Given the description of an element on the screen output the (x, y) to click on. 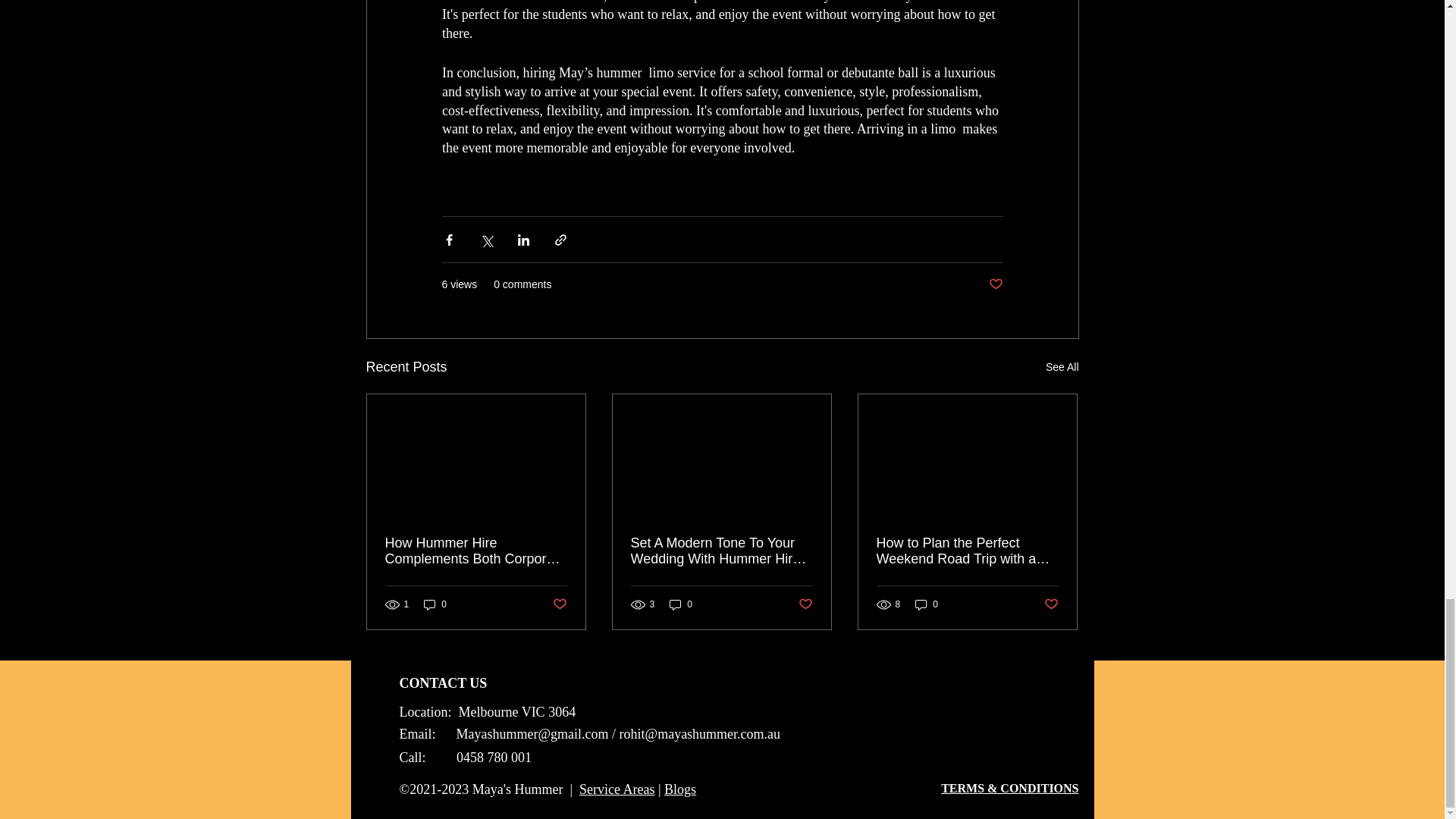
0 (435, 604)
Set A Modern Tone To Your Wedding With Hummer Hire Melbourne (721, 551)
Post not marked as liked (995, 284)
Post not marked as liked (558, 604)
See All (1061, 367)
